Given the description of an element on the screen output the (x, y) to click on. 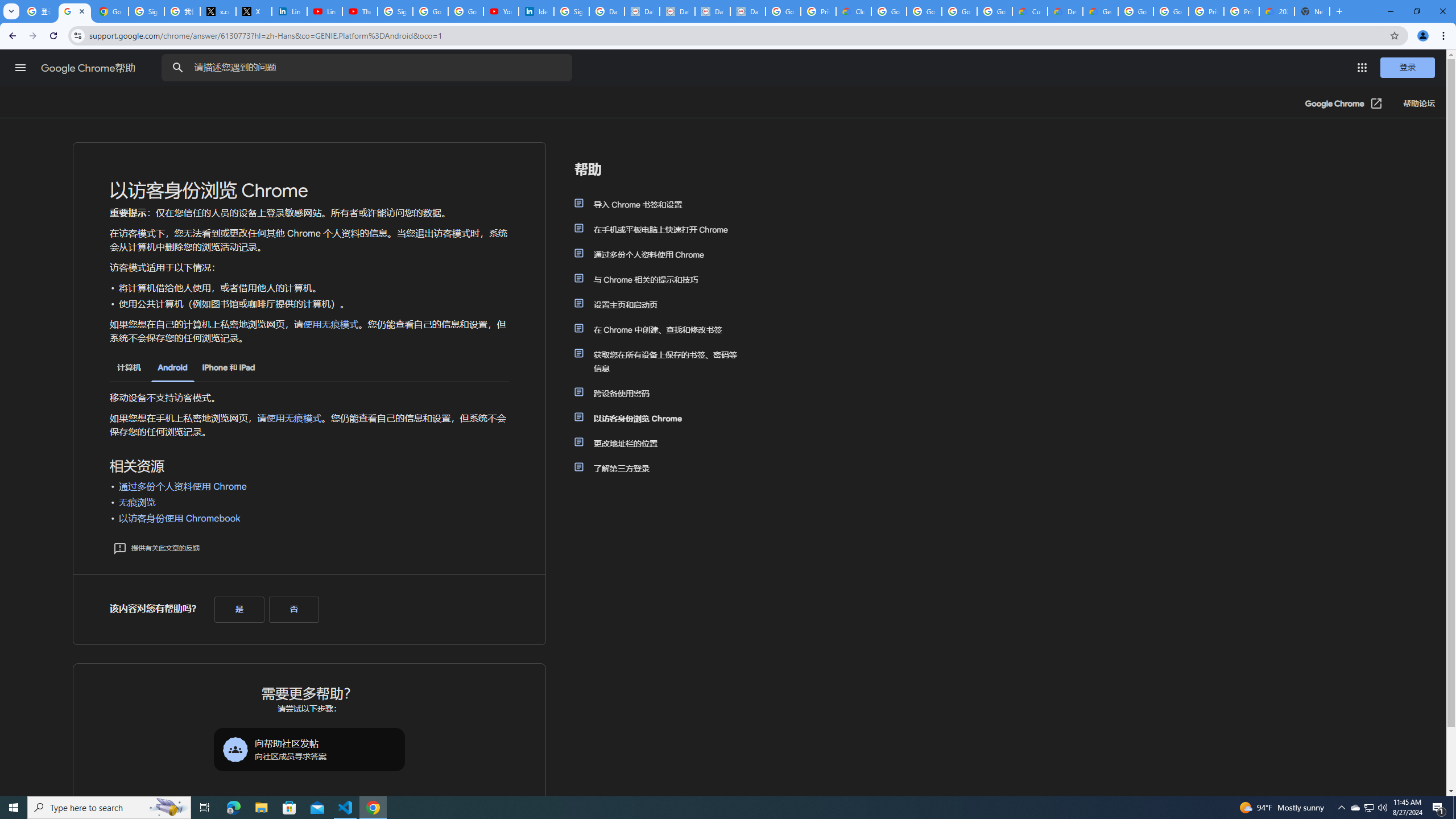
LinkedIn Privacy Policy (288, 11)
Google Cloud Platform (1170, 11)
Data Privacy Framework (677, 11)
Data Privacy Framework (747, 11)
